Given the description of an element on the screen output the (x, y) to click on. 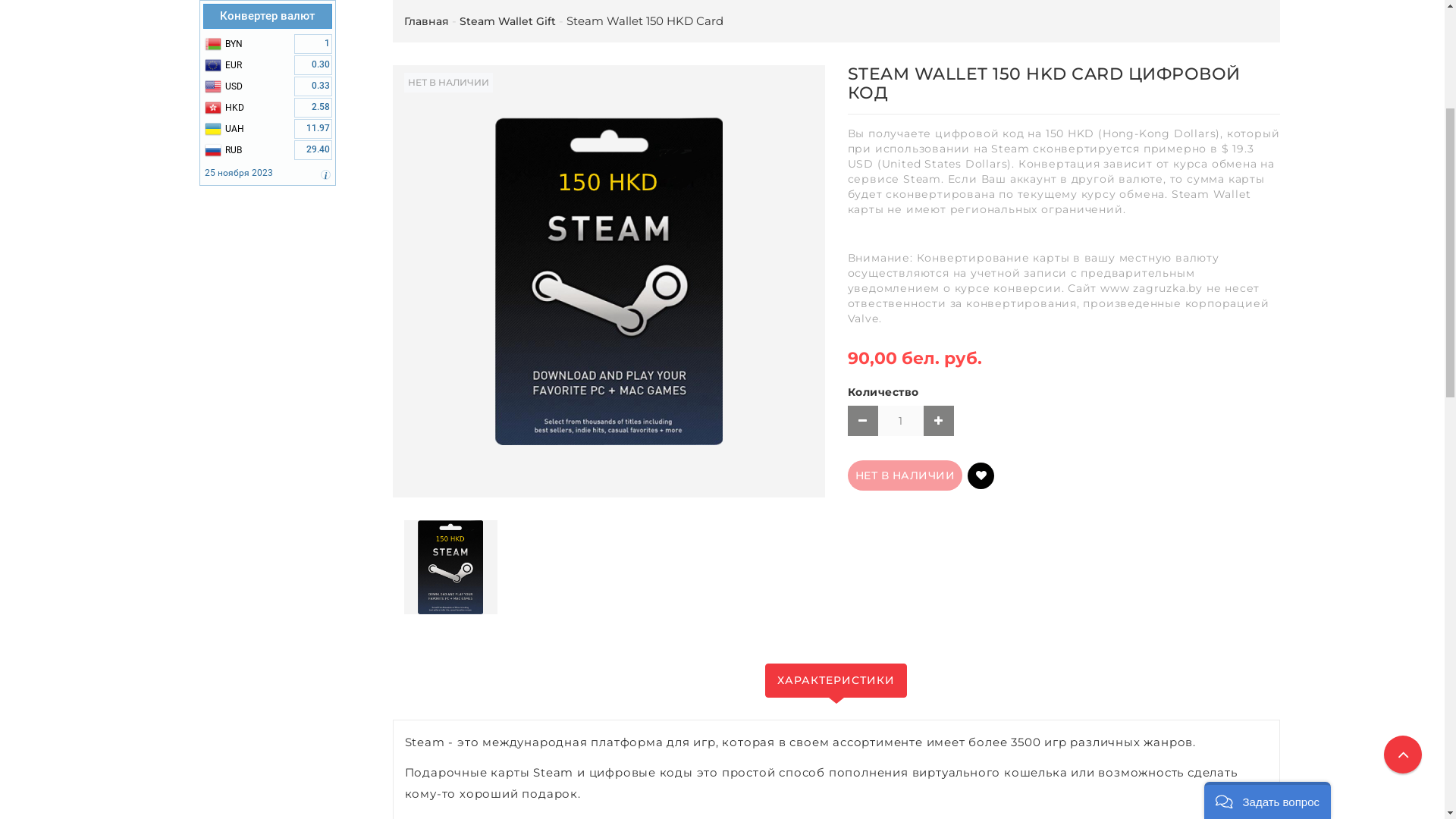
i Element type: text (326, 451)
+375 25 955-96-35 Element type: text (721, 18)
zagruzkabygmail.com Element type: text (722, 97)
Steam Wallet Gift Element type: text (507, 296)
